Given the description of an element on the screen output the (x, y) to click on. 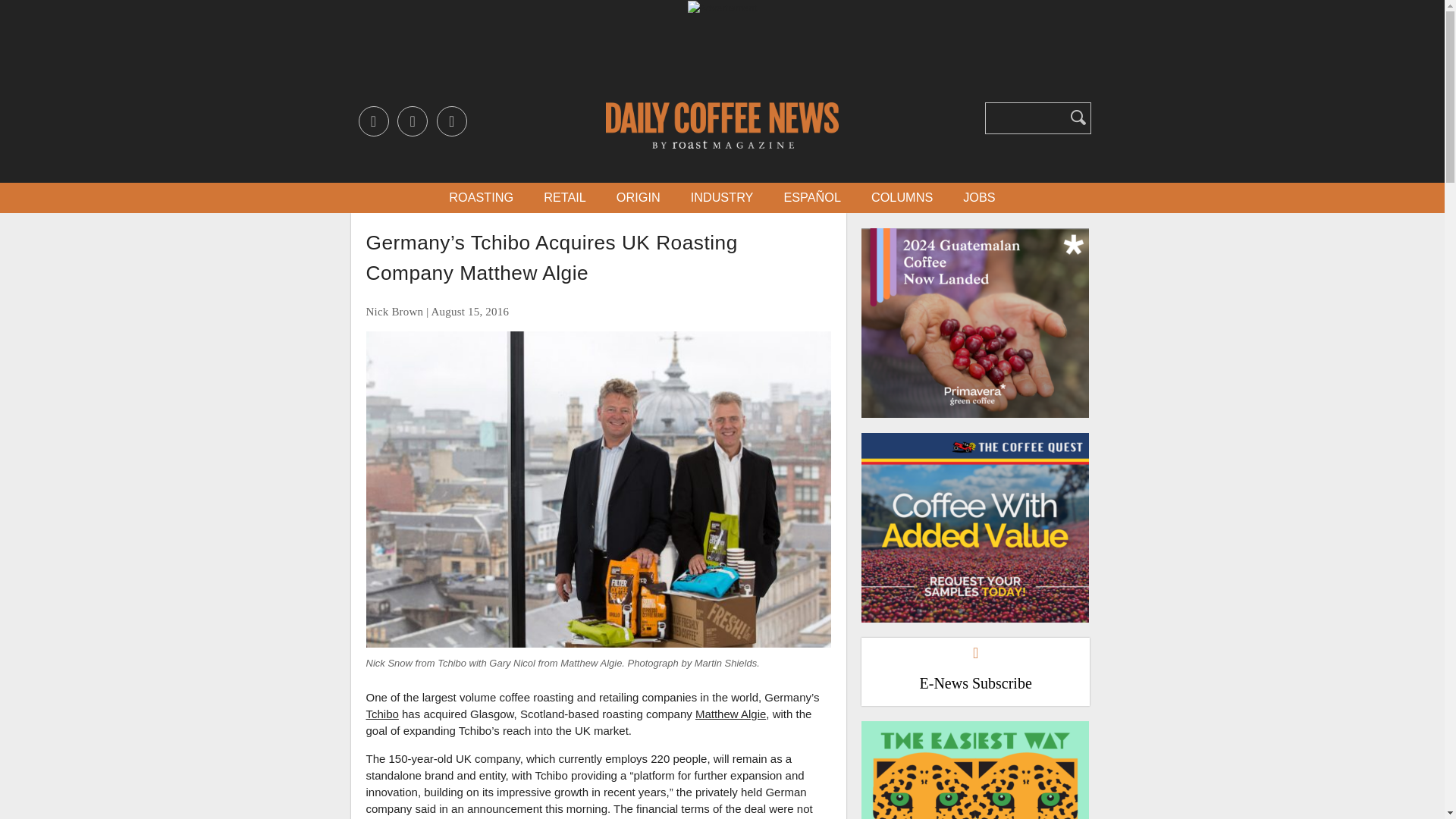
Search (1078, 117)
Search (1078, 117)
RETAIL (564, 197)
ROASTING (480, 197)
Search (1078, 117)
